Given the description of an element on the screen output the (x, y) to click on. 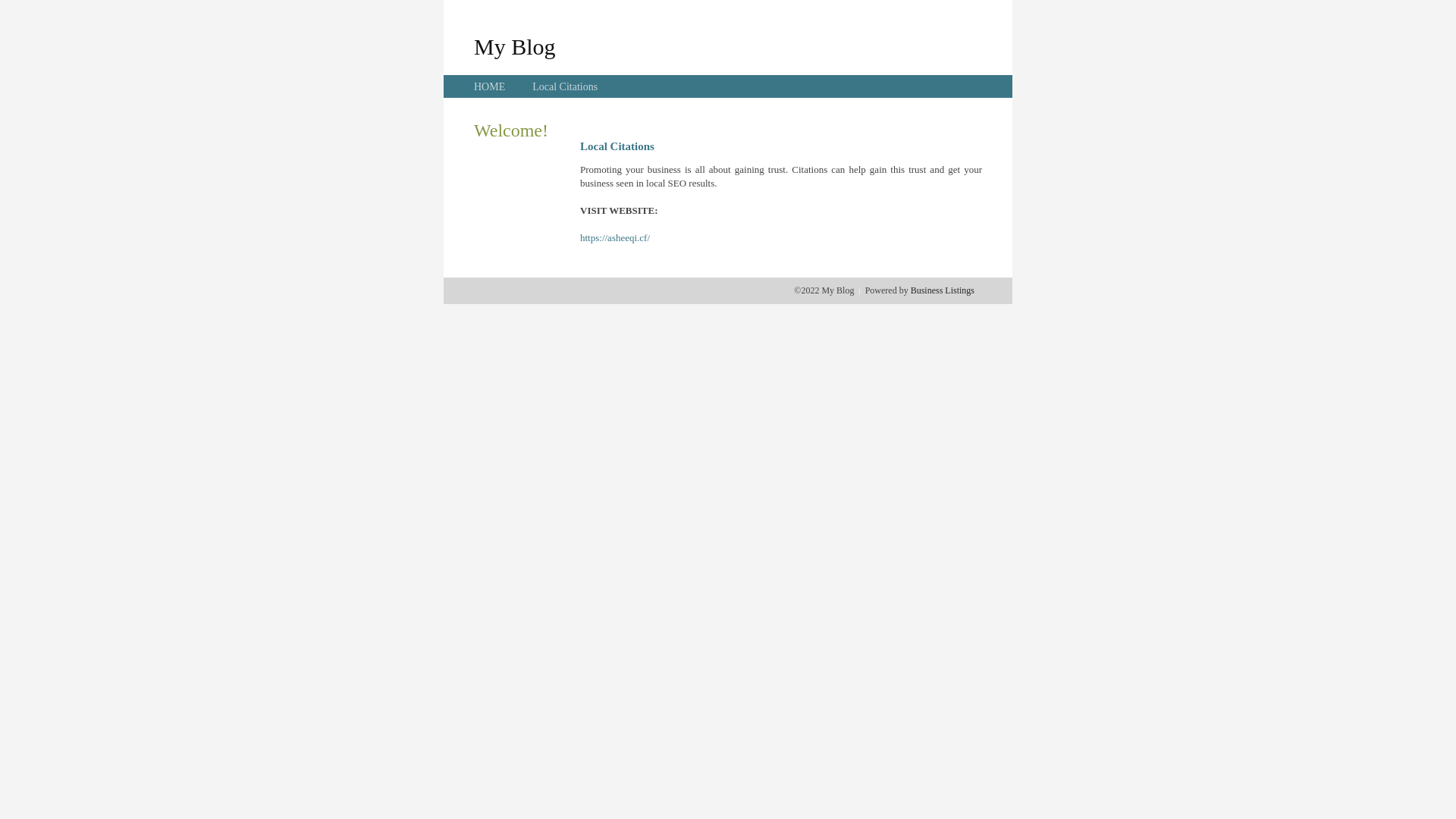
Business Listings Element type: text (942, 290)
My Blog Element type: text (514, 46)
https://asheeqi.cf/ Element type: text (614, 237)
Local Citations Element type: text (564, 86)
HOME Element type: text (489, 86)
